Given the description of an element on the screen output the (x, y) to click on. 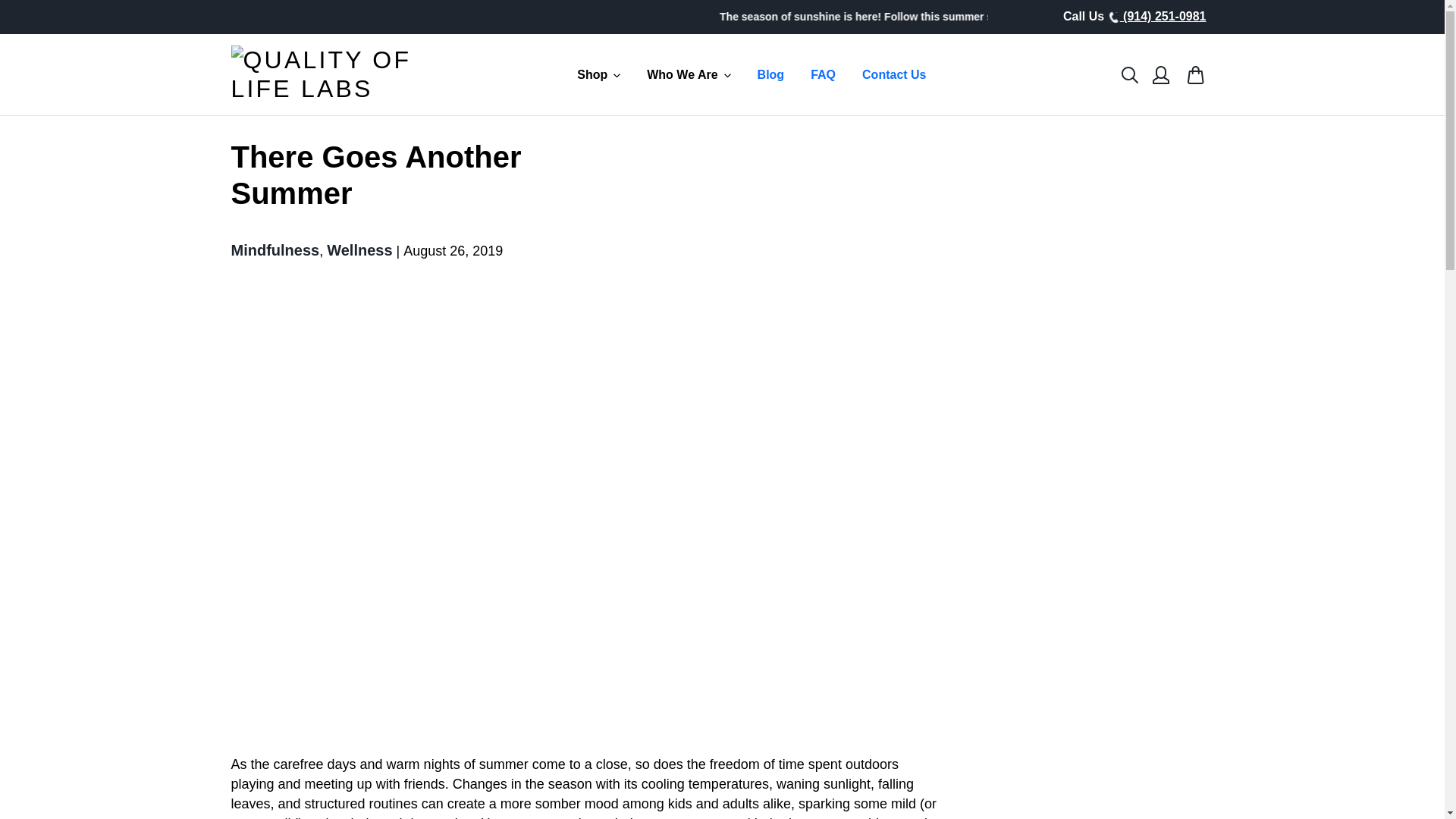
CART (1194, 74)
ACCOUNT (1159, 74)
SEARCH (1129, 74)
Shop (598, 74)
